Given the description of an element on the screen output the (x, y) to click on. 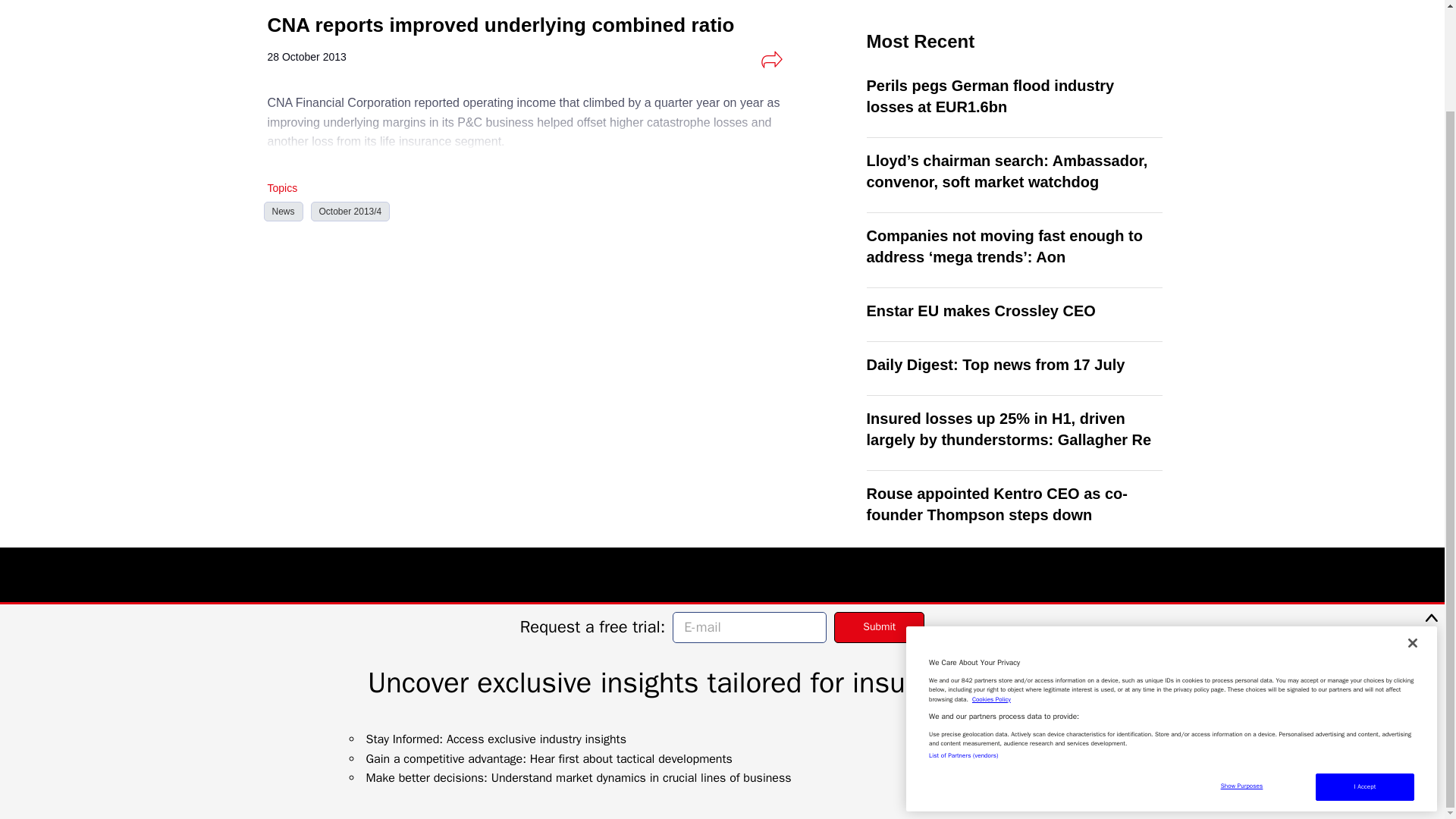
Share (771, 59)
Submit (879, 509)
